Given the description of an element on the screen output the (x, y) to click on. 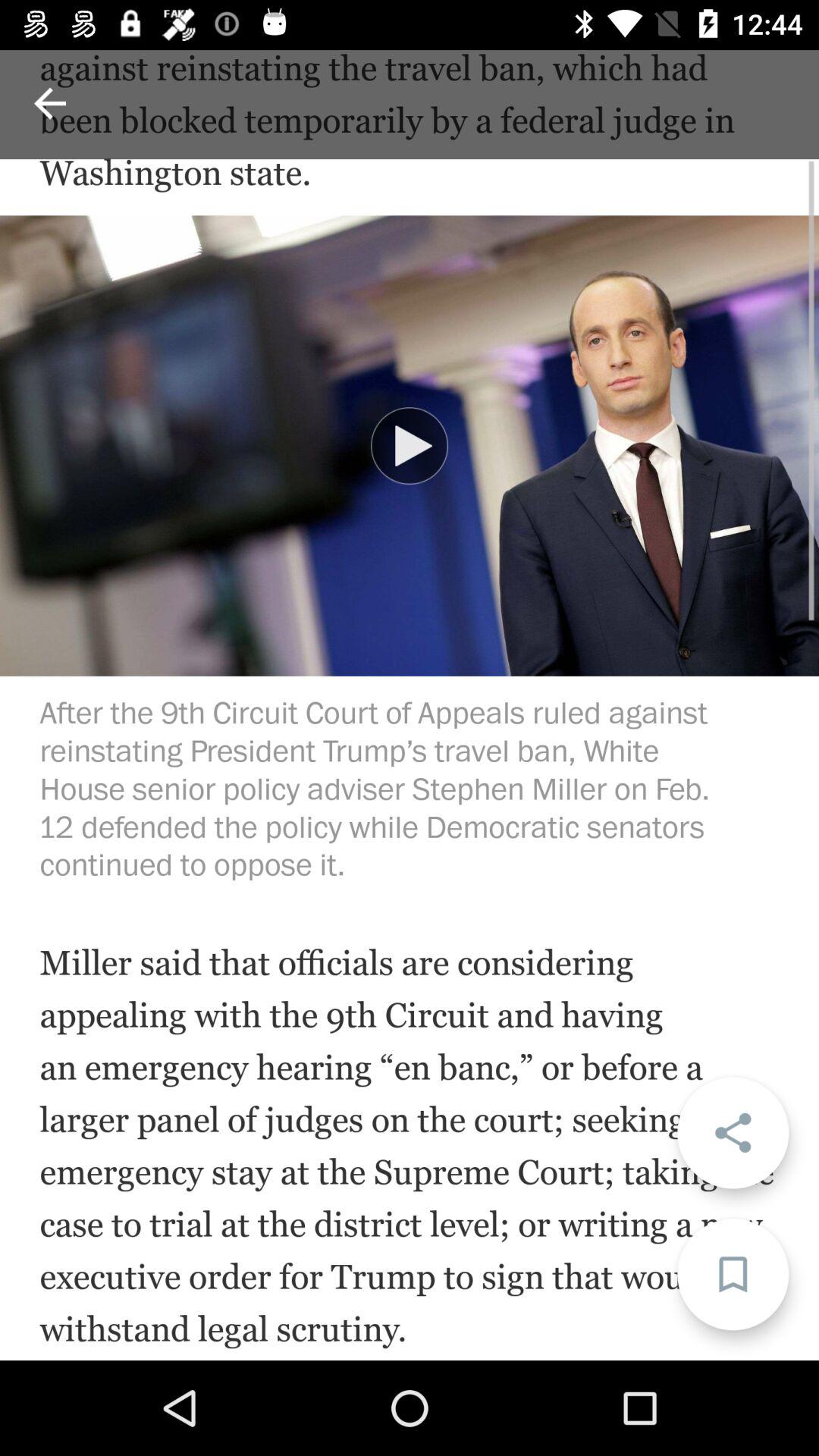
open item at the top left corner (49, 103)
